Given the description of an element on the screen output the (x, y) to click on. 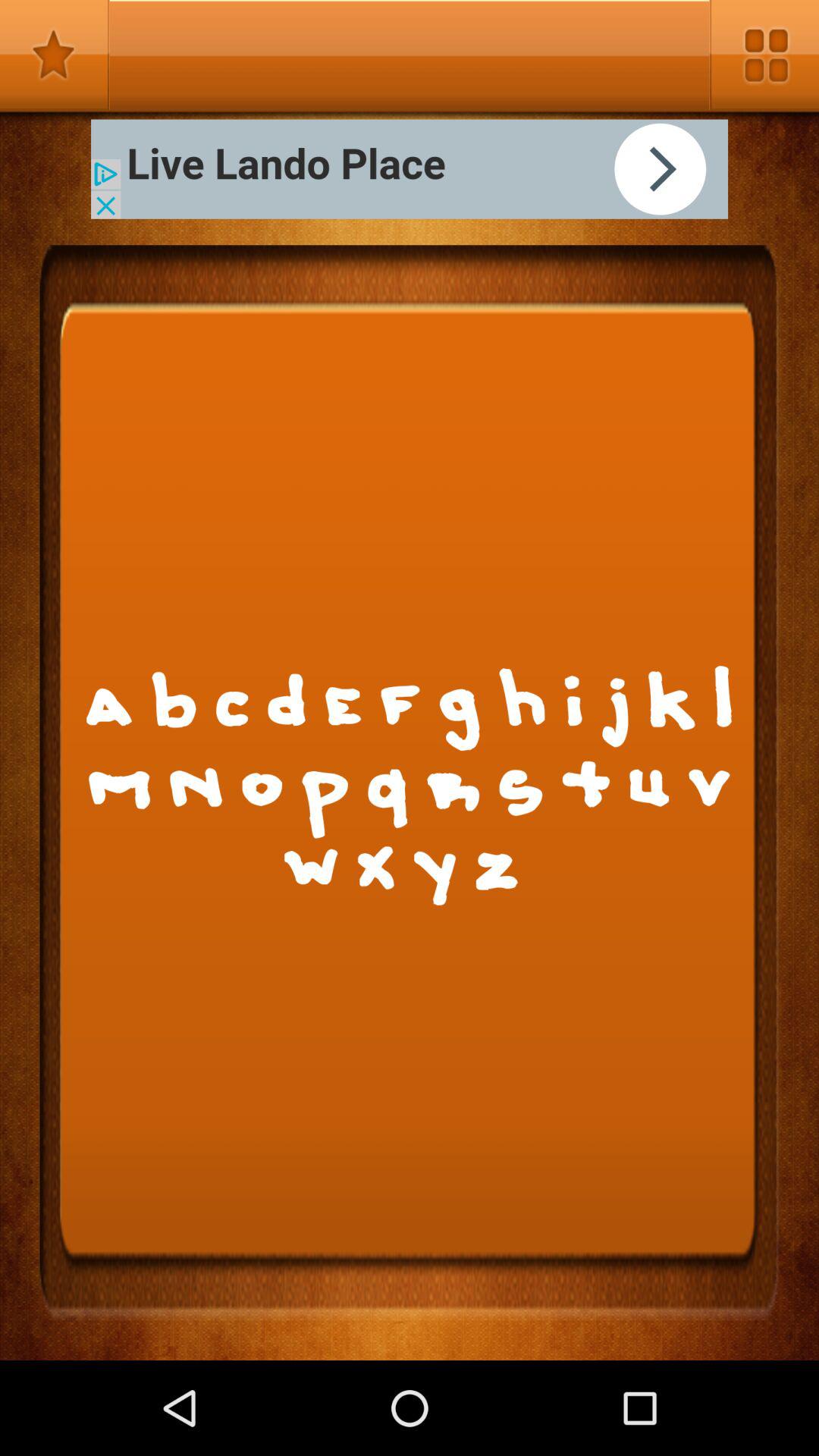
go the next page (409, 168)
